Given the description of an element on the screen output the (x, y) to click on. 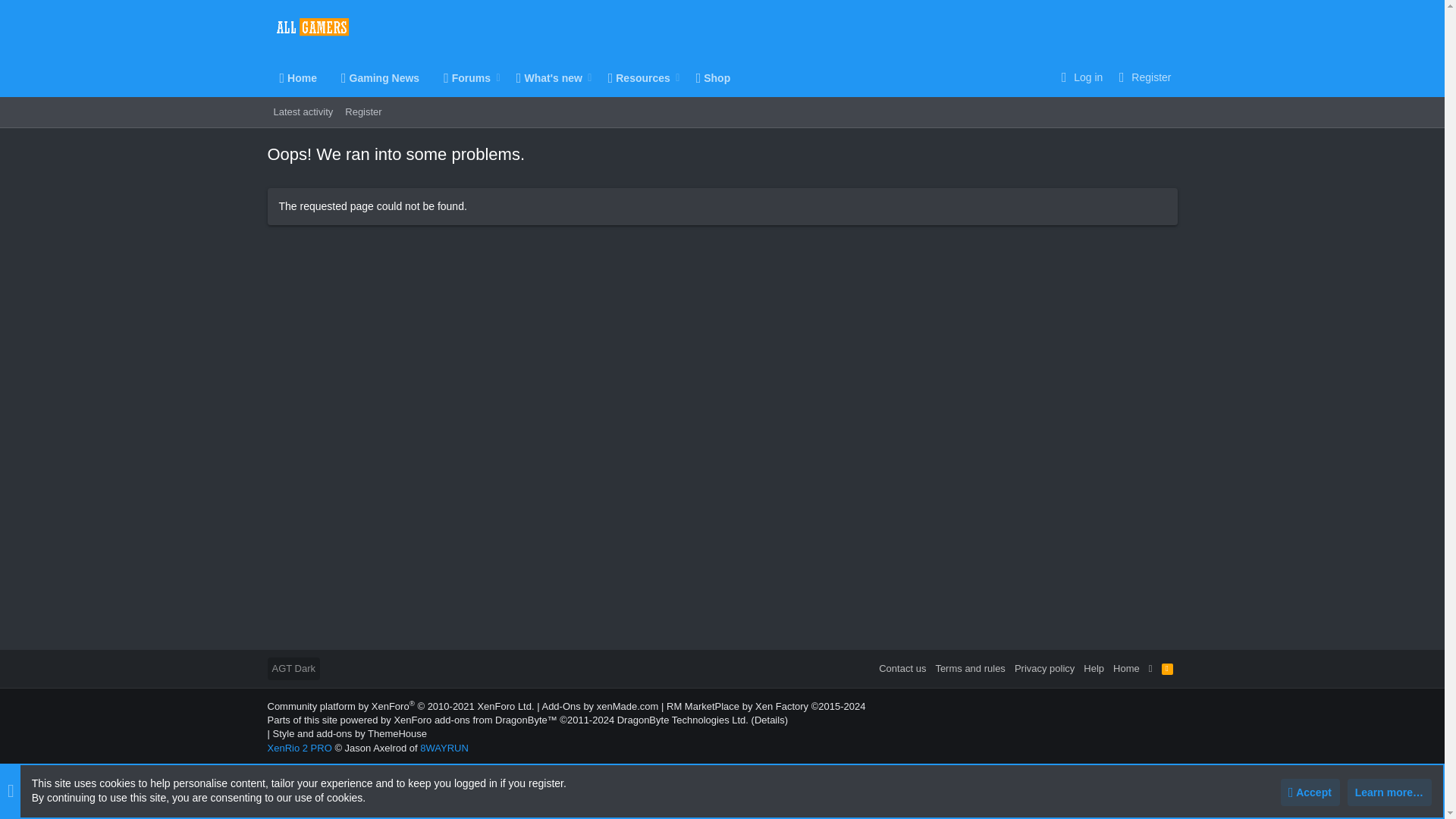
Terms and rules (969, 668)
Home (297, 77)
Resources (633, 77)
RSS (1167, 668)
XenForo Add-ons (560, 706)
Help (504, 77)
Add-Ons (1093, 668)
Forums (560, 706)
Privacy policy (461, 77)
